Given the description of an element on the screen output the (x, y) to click on. 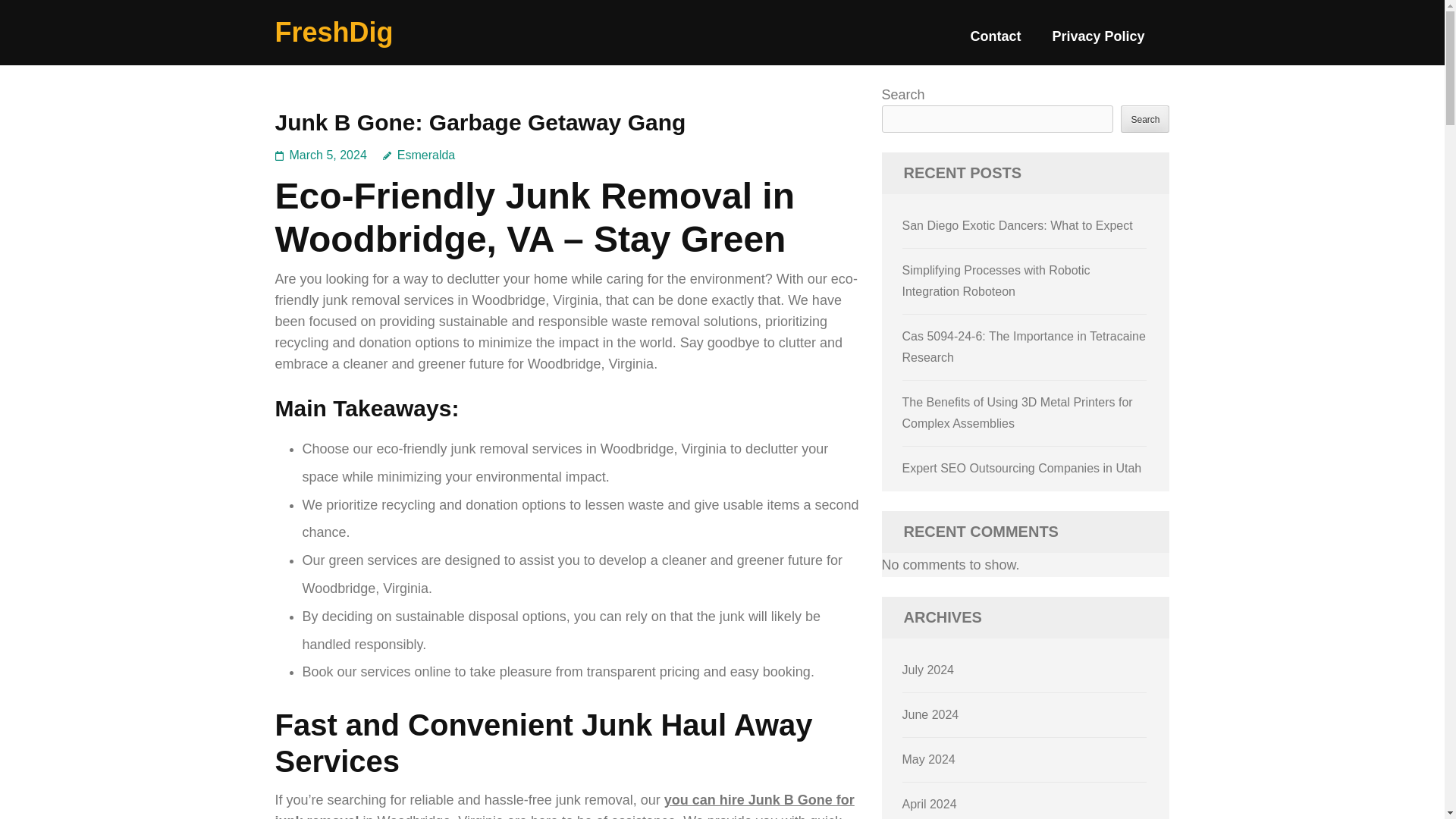
May 2024 (928, 758)
April 2024 (929, 803)
March 5, 2024 (327, 154)
June 2024 (930, 714)
Cas 5094-24-6: The Importance in Tetracaine Research (1023, 346)
FreshDig (334, 31)
Esmeralda (418, 154)
Search (1145, 118)
July 2024 (928, 669)
Simplifying Processes with Robotic Integration Roboteon (996, 280)
San Diego Exotic Dancers: What to Expect (1017, 225)
Privacy Policy (1097, 42)
you can hire Junk B Gone for junk removal (564, 805)
Expert SEO Outsourcing Companies in Utah (1021, 468)
Contact (994, 42)
